Given the description of an element on the screen output the (x, y) to click on. 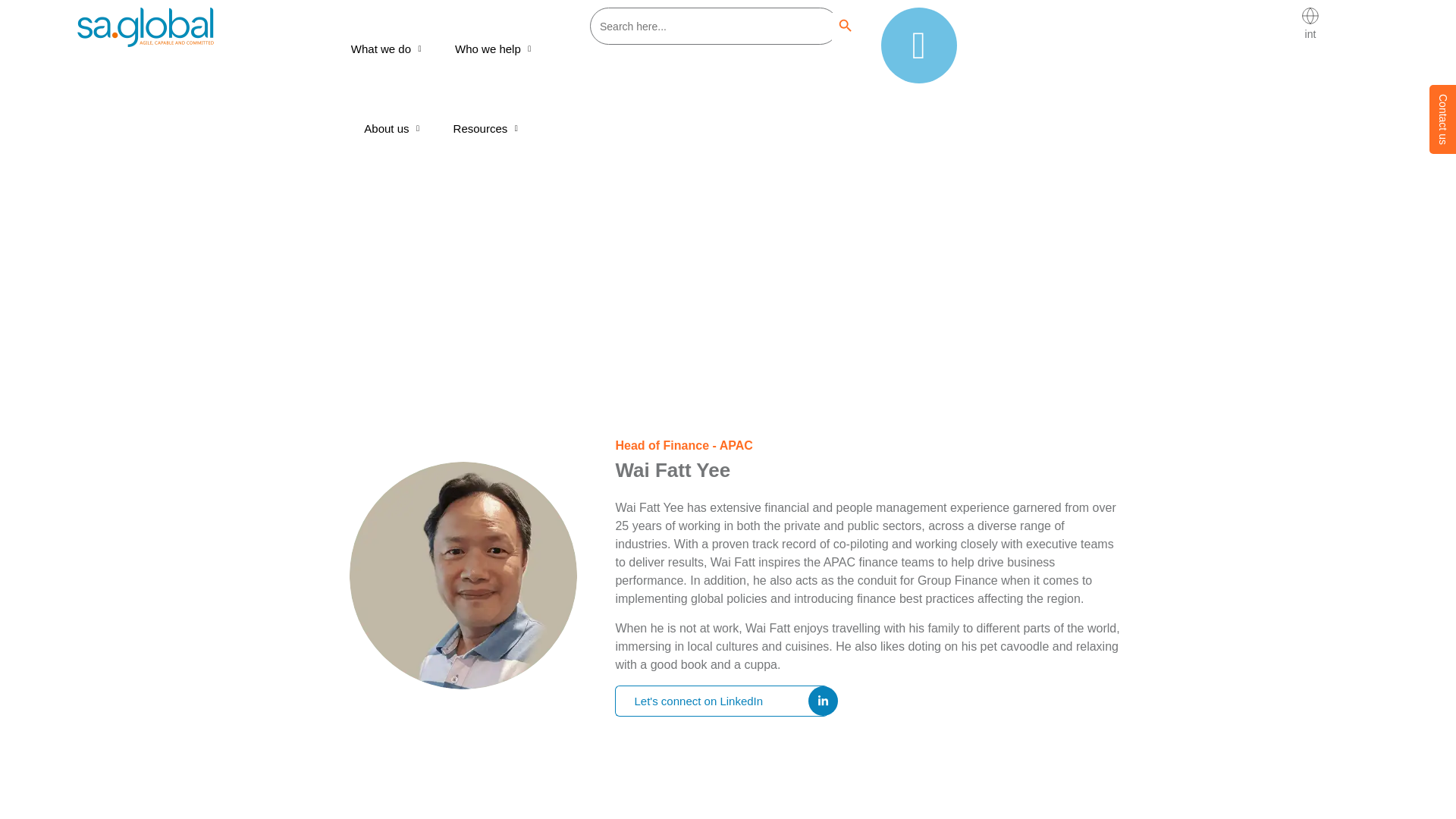
Who we help (498, 48)
Resources (491, 128)
About us (396, 128)
Search Button (845, 26)
What we do (391, 48)
